Given the description of an element on the screen output the (x, y) to click on. 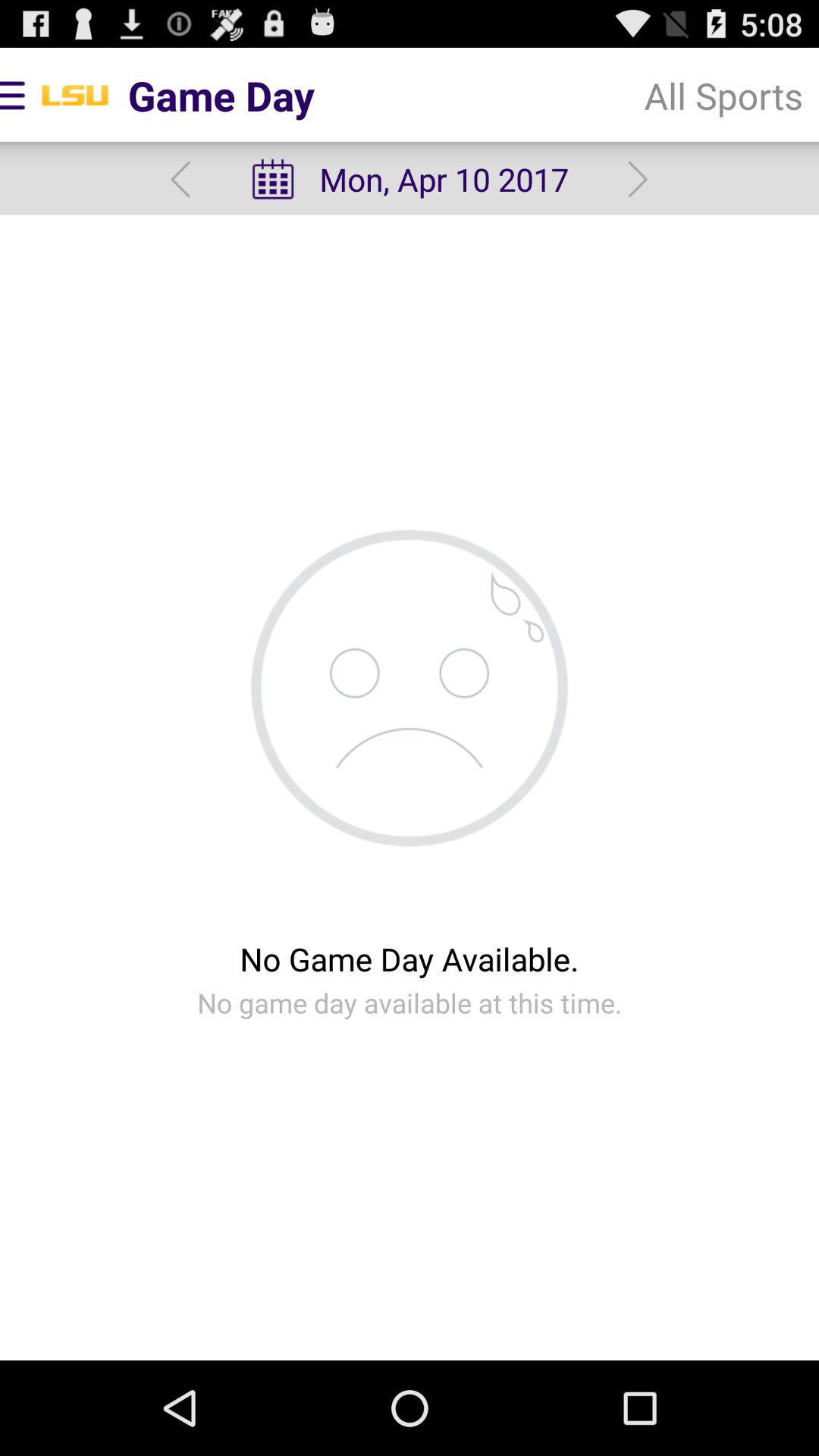
next menu (637, 178)
